Given the description of an element on the screen output the (x, y) to click on. 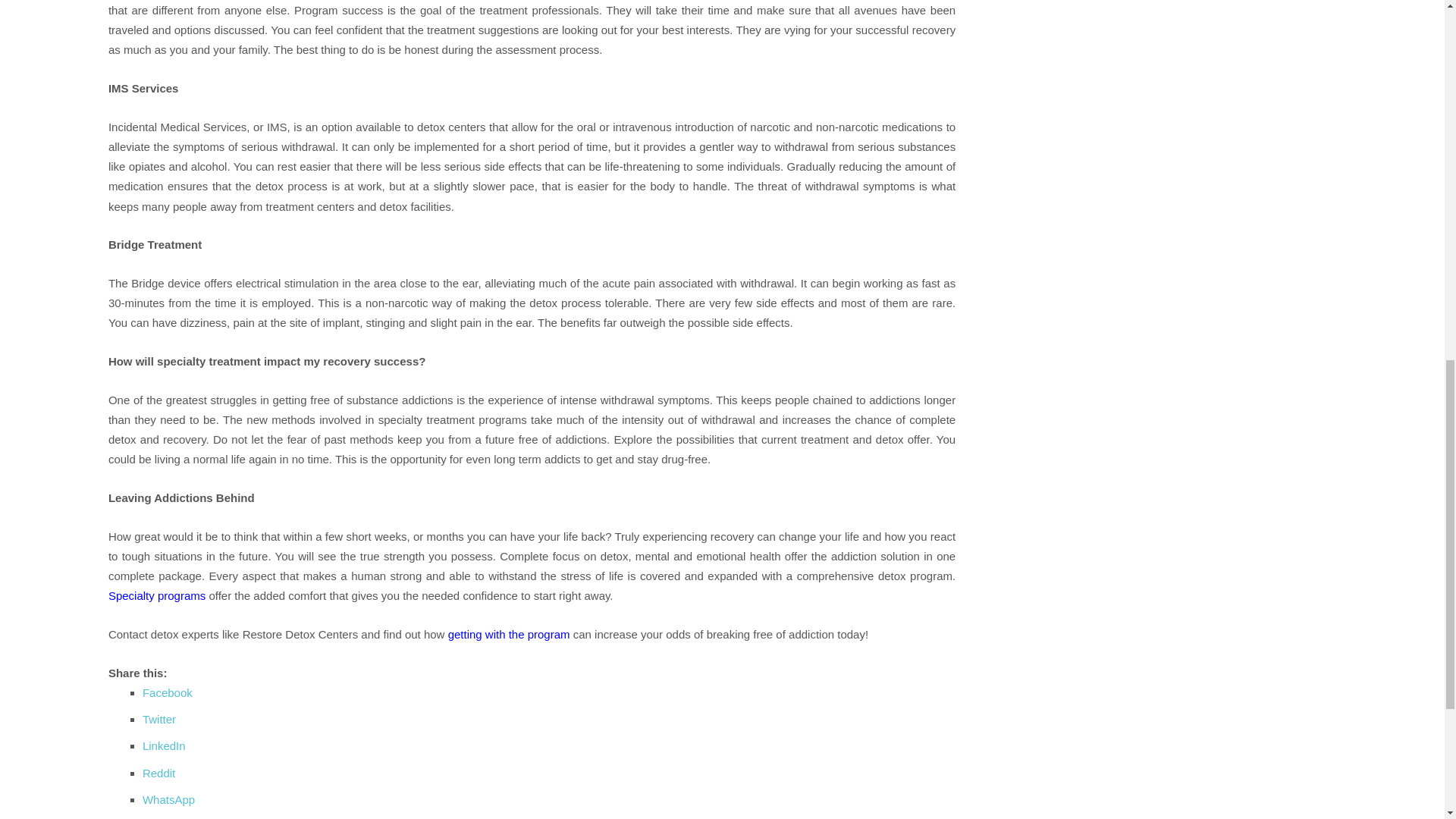
Click to share on WhatsApp (168, 799)
Facebook (167, 692)
Specialty programs (156, 594)
LinkedIn (164, 745)
getting with the program (509, 634)
Click to share on Facebook (167, 692)
Twitter (159, 718)
Click to share on Reddit (158, 772)
Click to share on Twitter (159, 718)
Click to share on LinkedIn (164, 745)
